Given the description of an element on the screen output the (x, y) to click on. 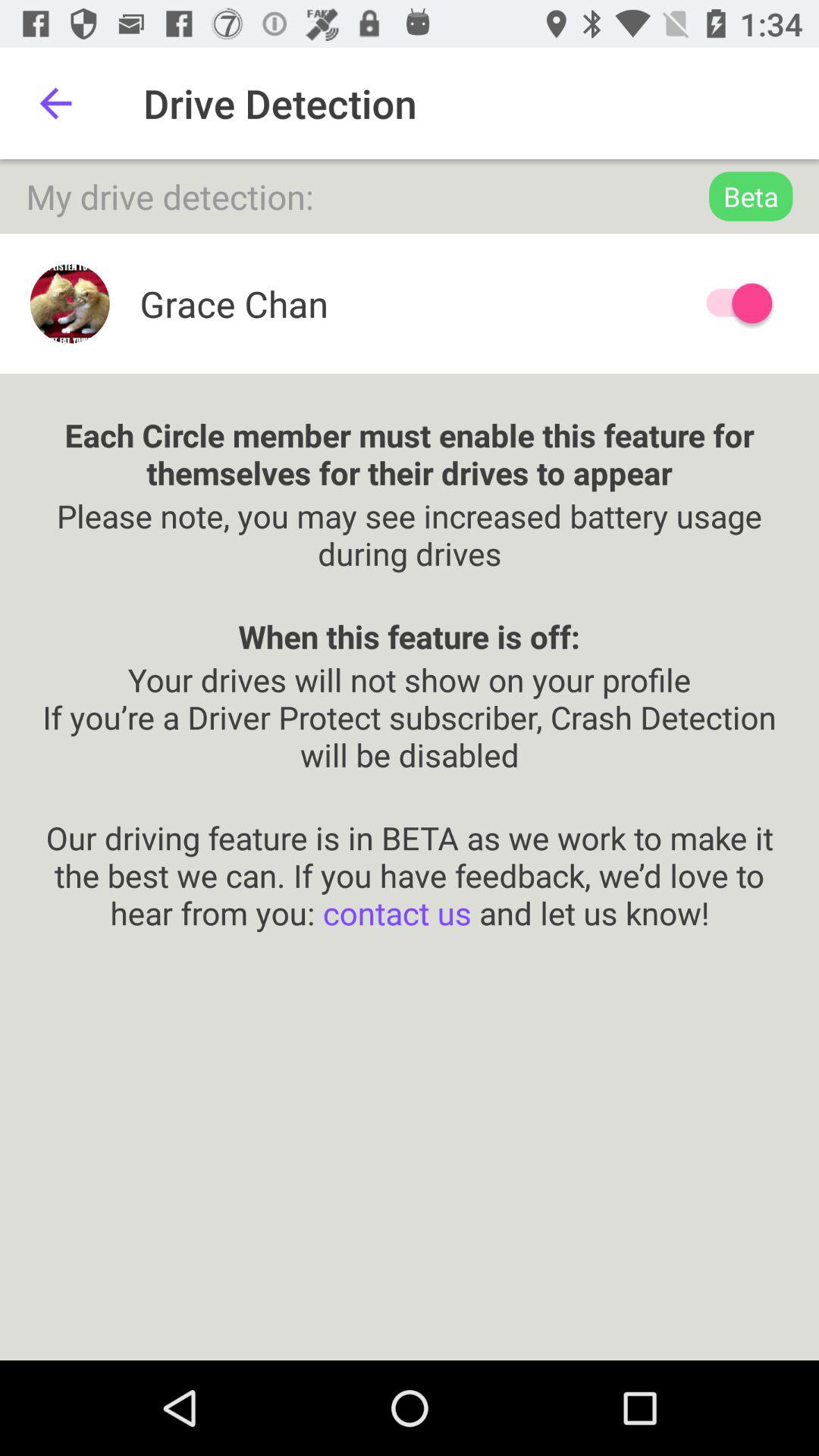
choose icon below the your drives will item (409, 855)
